Given the description of an element on the screen output the (x, y) to click on. 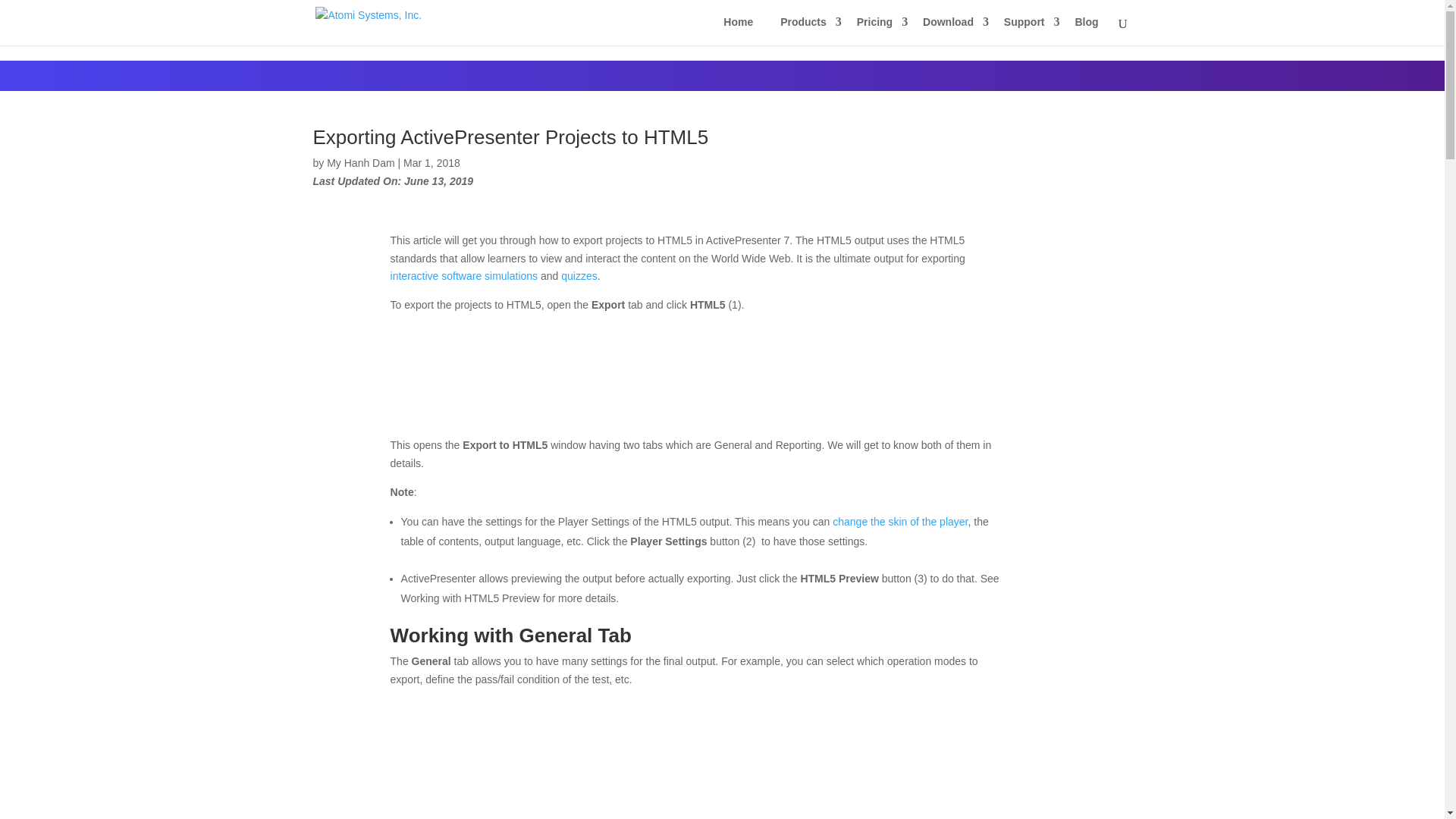
interactive software simulations (464, 275)
My Hanh Dam (360, 162)
change the skin of the player (900, 521)
Home (738, 27)
Pricing (875, 27)
Blog (1085, 27)
Support (1025, 27)
Posts by My Hanh Dam (360, 162)
Products (804, 27)
Download (949, 27)
